Given the description of an element on the screen output the (x, y) to click on. 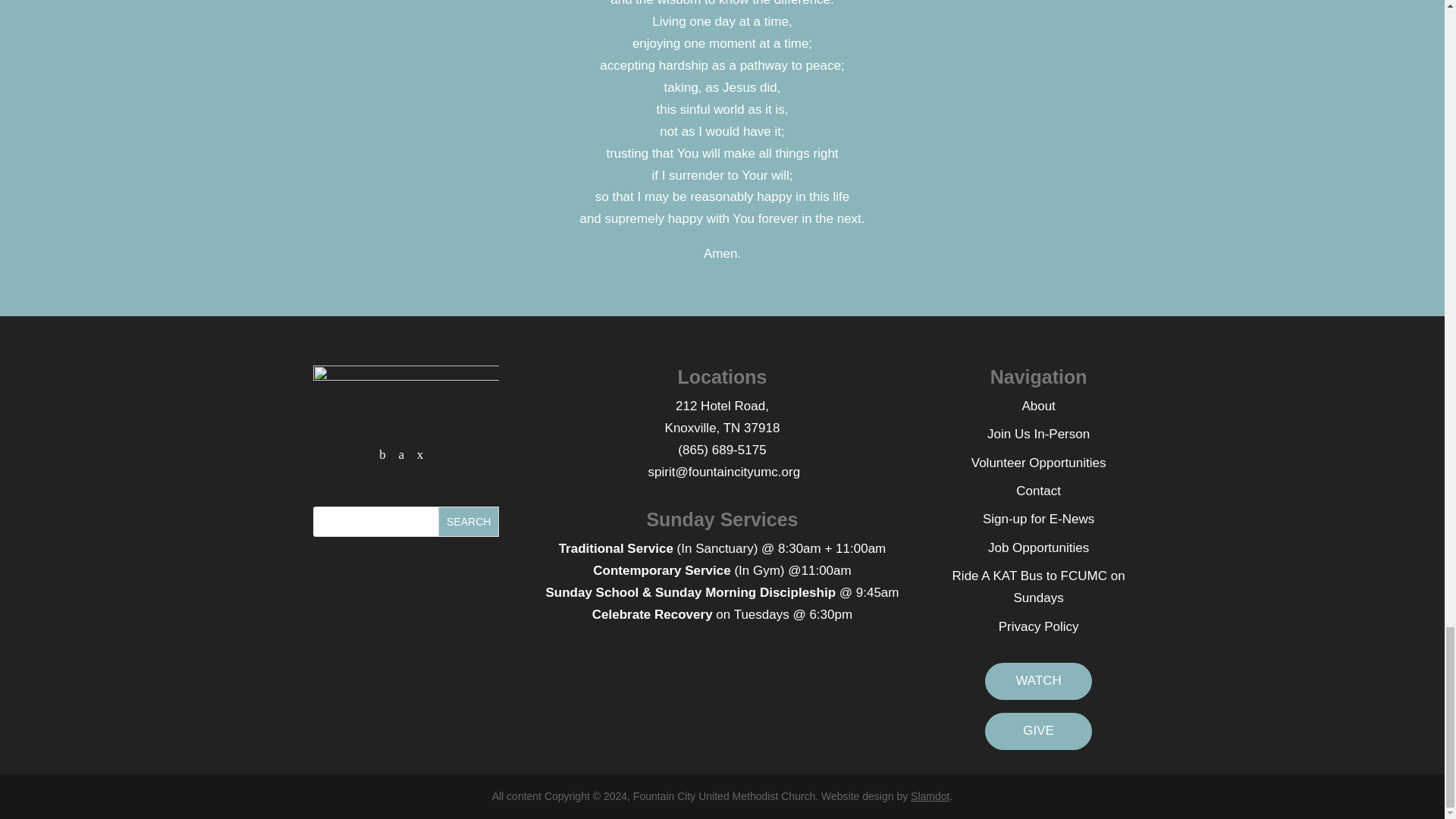
Search (468, 521)
